Given the description of an element on the screen output the (x, y) to click on. 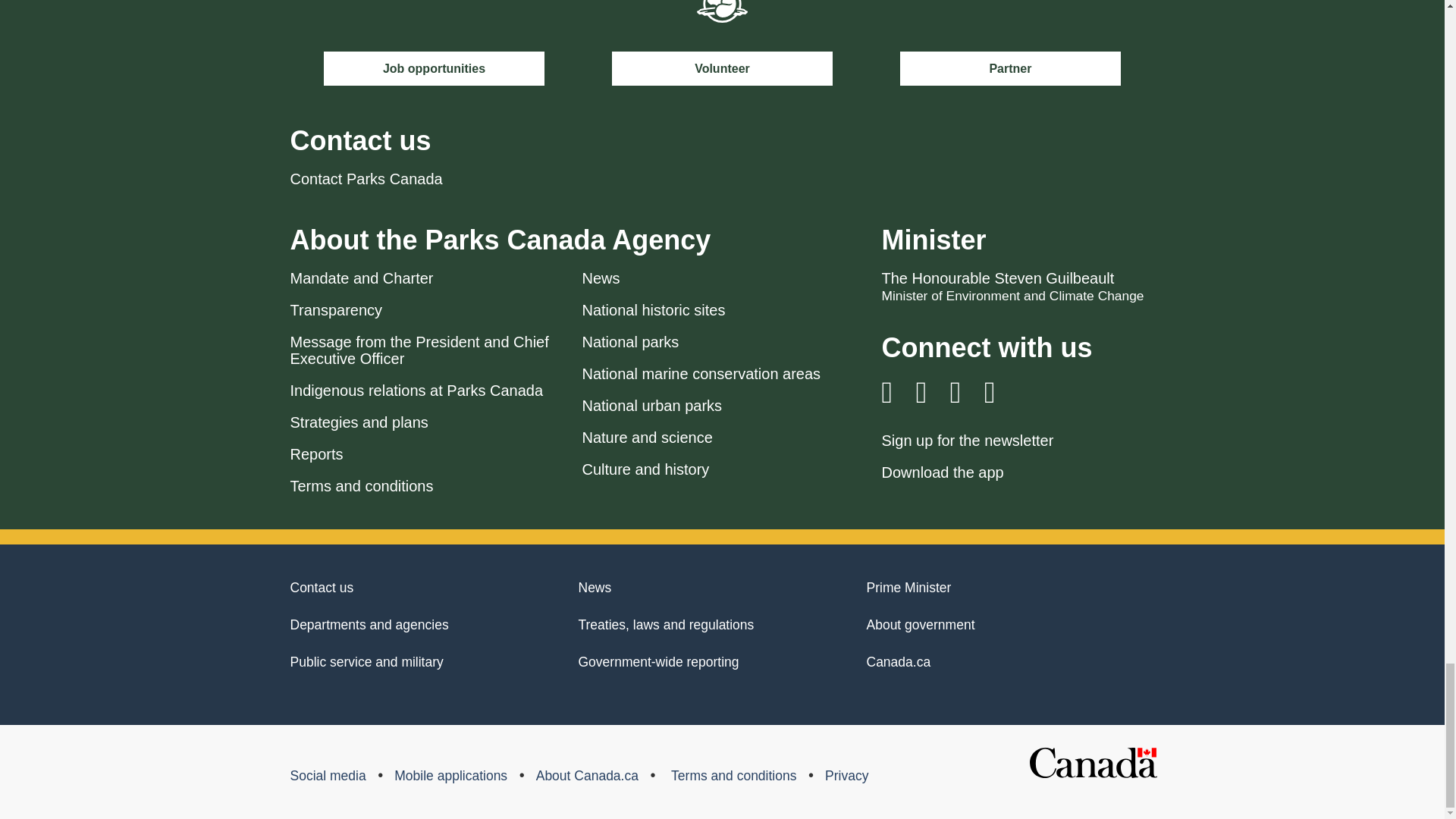
Terms and conditions (360, 485)
Transparency (335, 310)
News (601, 278)
Message from the President and Chief Executive Officer (418, 349)
Partner (1010, 68)
Volunteer (721, 68)
Mandate and Charter (360, 278)
Contact Parks Canada (365, 178)
Strategies and plans (358, 422)
Indigenous relations at Parks Canada (416, 390)
National historic sites (653, 310)
Job opportunities (433, 68)
Reports (315, 453)
